Given the description of an element on the screen output the (x, y) to click on. 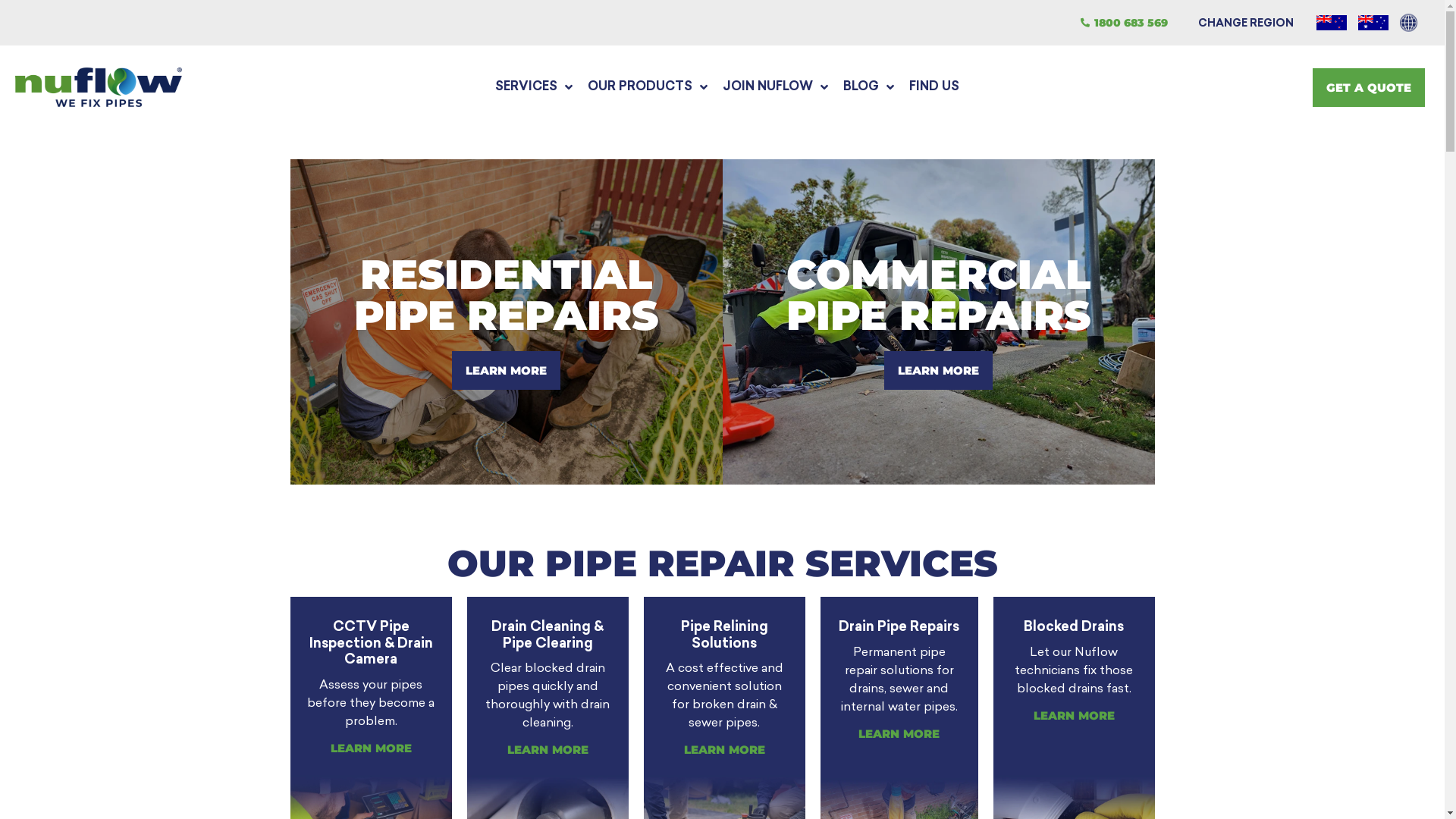
LEARN MORE Element type: text (505, 370)
BLOG Element type: text (868, 86)
JOIN NUFLOW Element type: text (775, 86)
1800 683 569 Element type: text (1123, 22)
GET A QUOTE Element type: text (1368, 87)
OUR PRODUCTS Element type: text (647, 86)
SERVICES Element type: text (533, 86)
FIND US Element type: text (933, 86)
LEARN MORE Element type: text (938, 370)
